Given the description of an element on the screen output the (x, y) to click on. 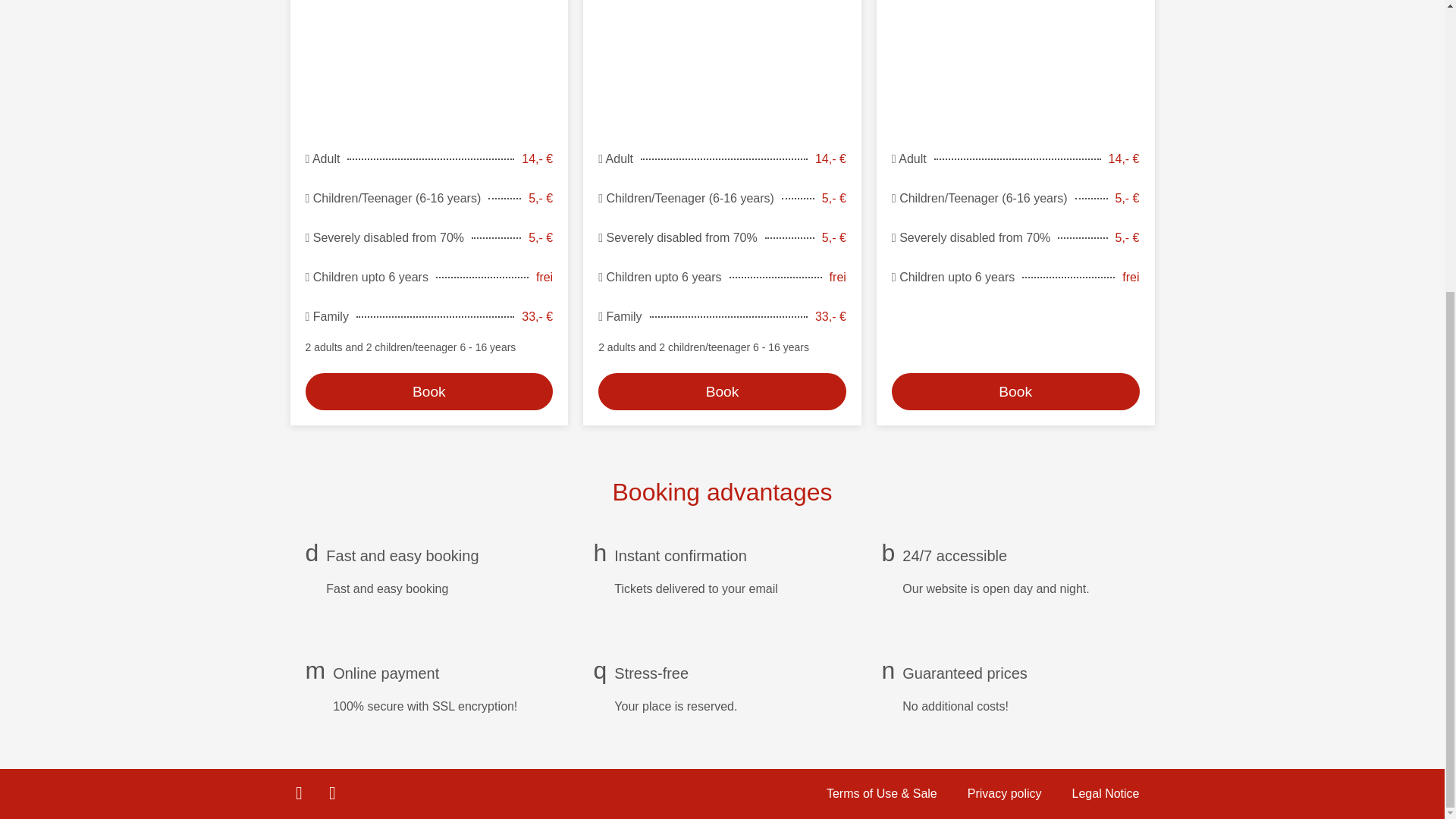
Book (721, 281)
Book (1015, 281)
Book (1015, 391)
